Given the description of an element on the screen output the (x, y) to click on. 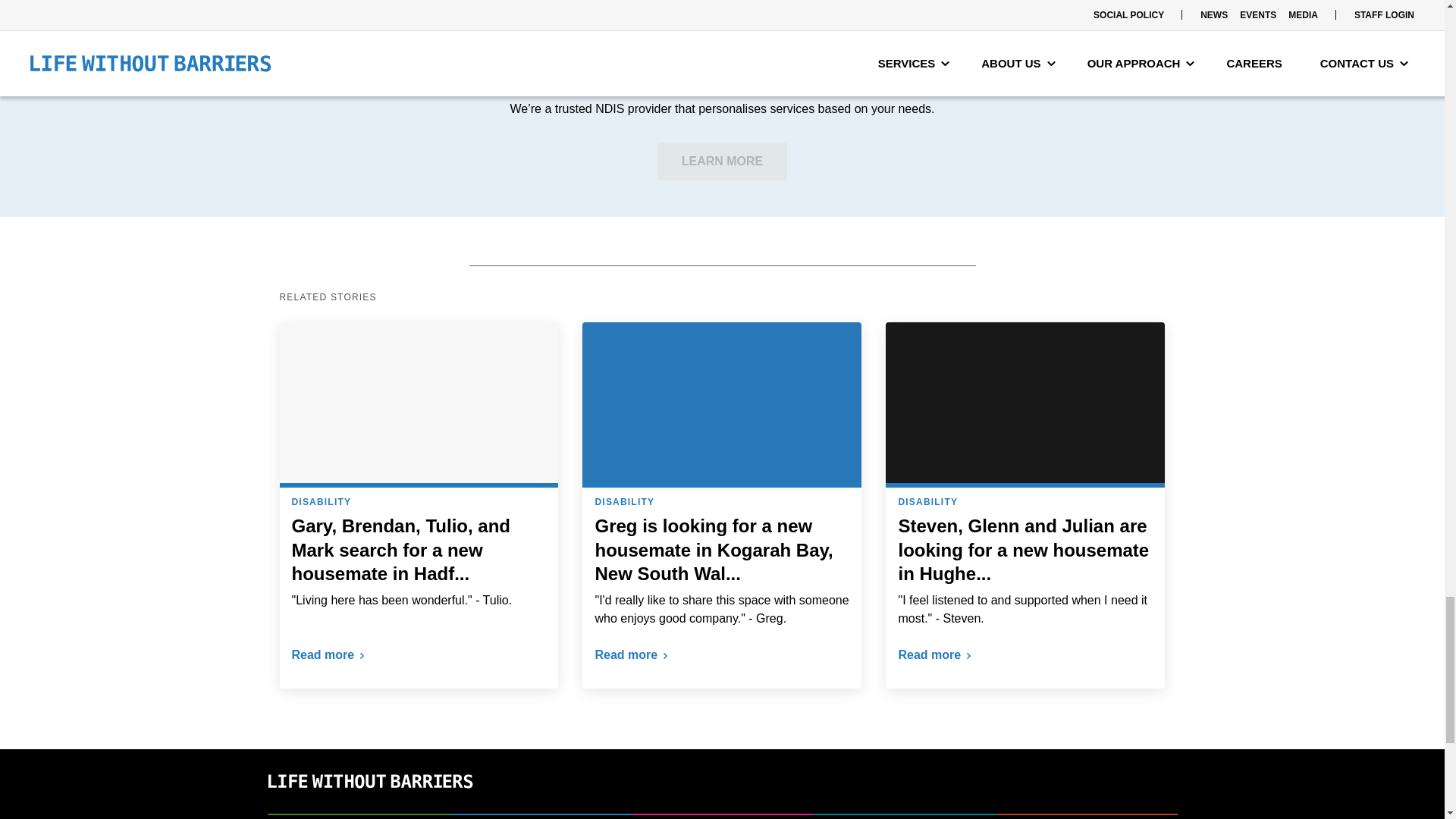
Life Without Barriers home page (368, 803)
